Given the description of an element on the screen output the (x, y) to click on. 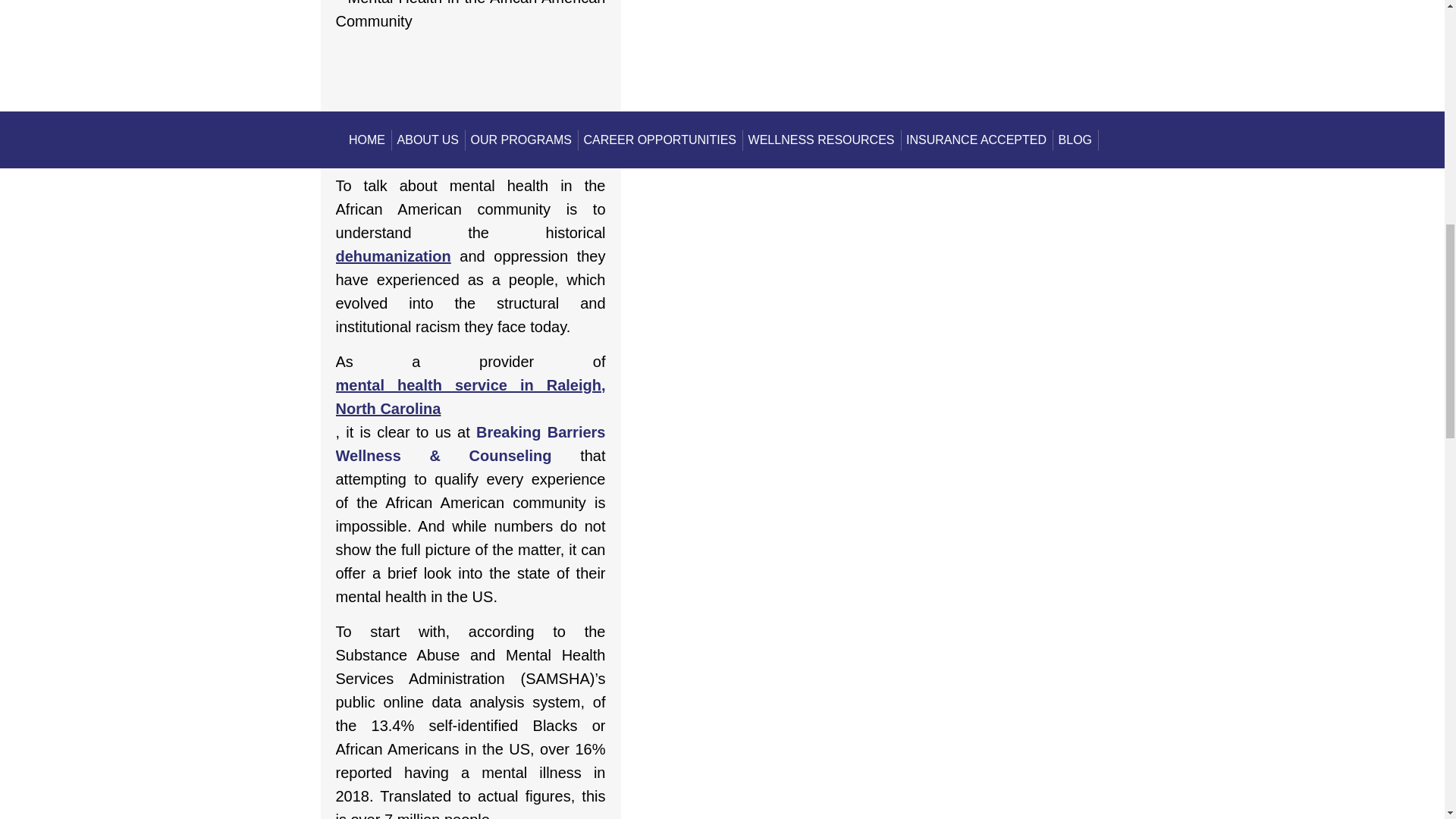
dehumanization (391, 256)
mental health service in Raleigh, North Carolina (469, 396)
